Given the description of an element on the screen output the (x, y) to click on. 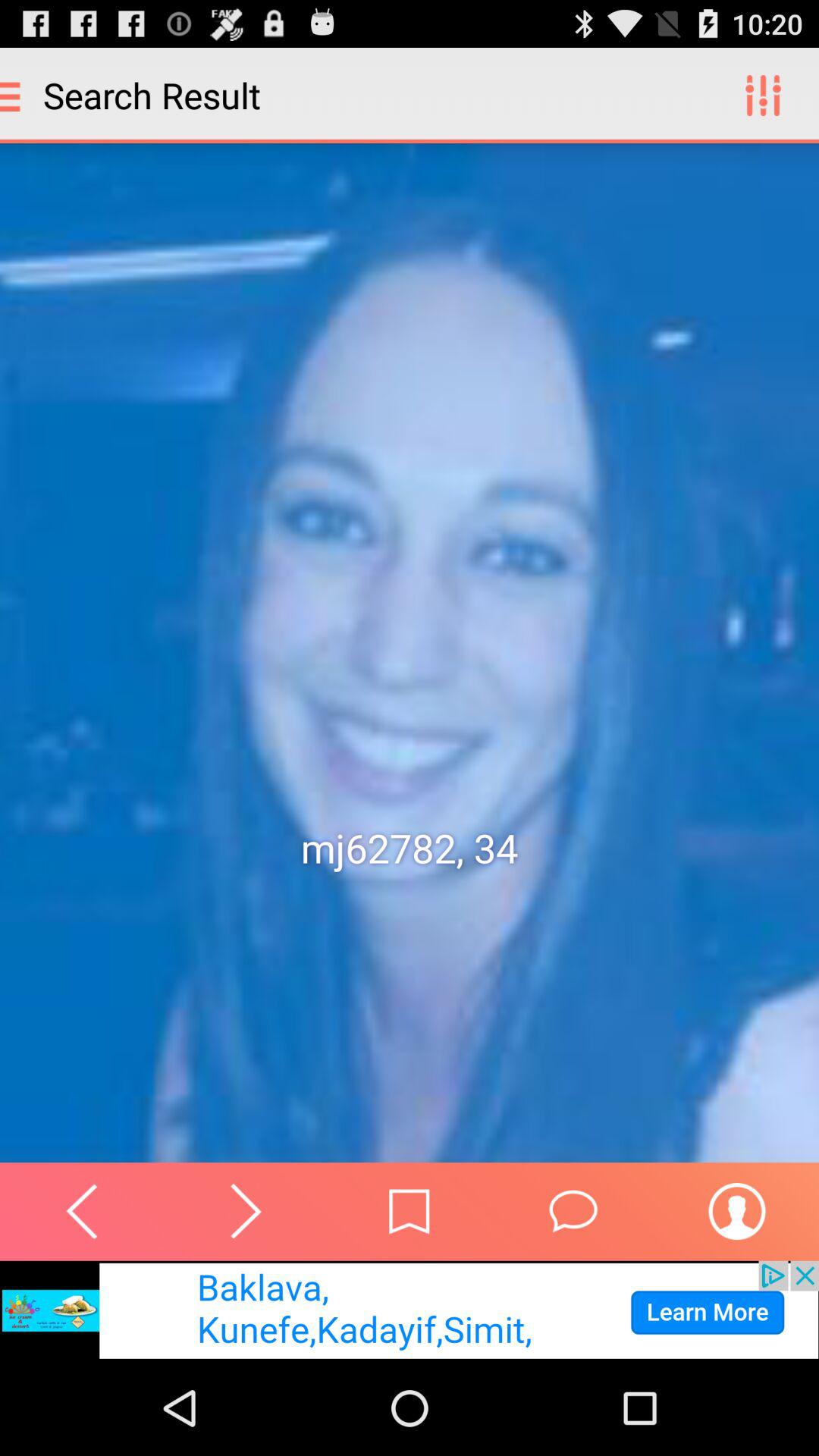
undo (81, 1211)
